Given the description of an element on the screen output the (x, y) to click on. 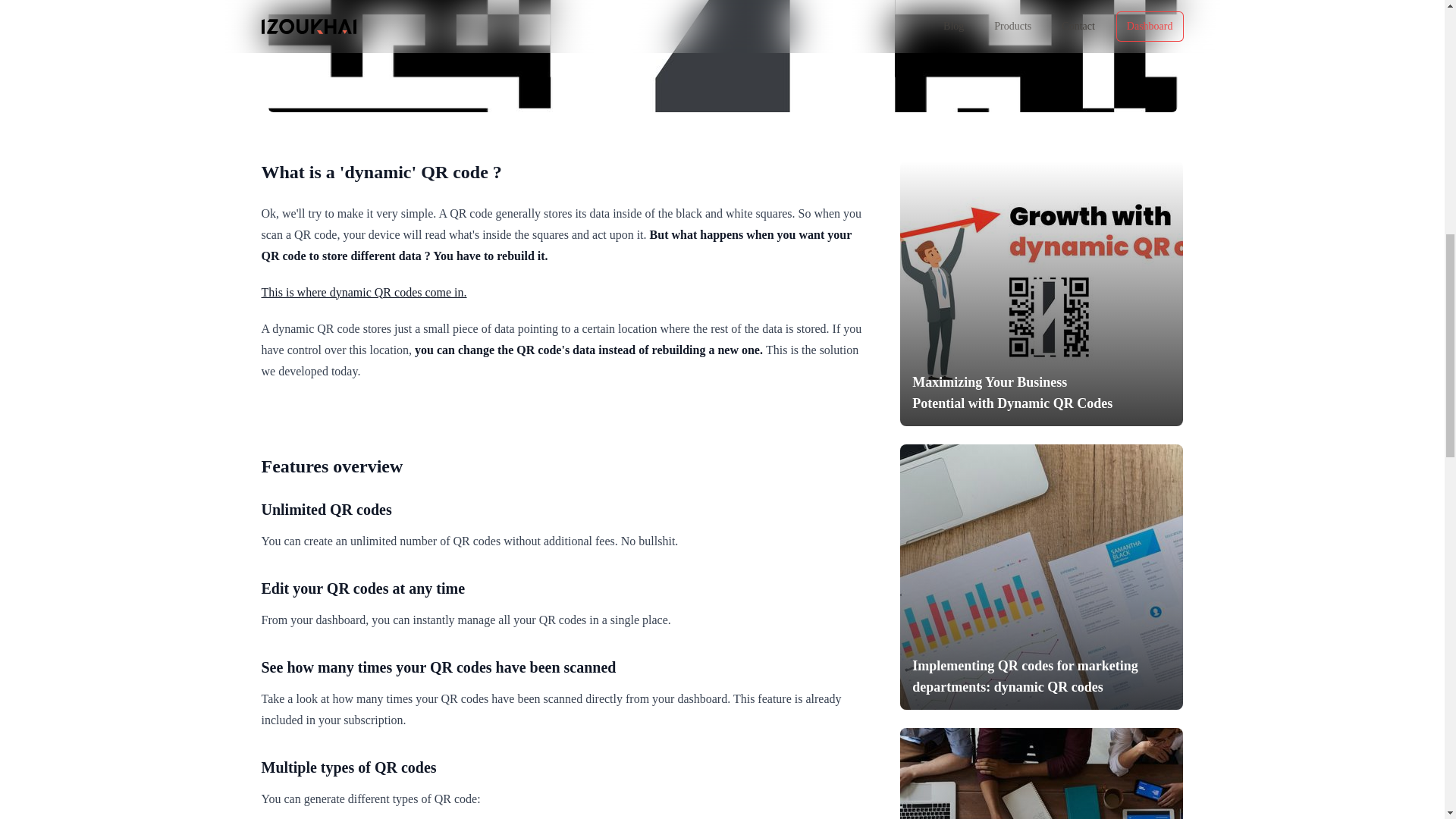
Maximizing Your Business Potential with Dynamic QR Codes (1040, 292)
This is where dynamic QR codes come in. (362, 291)
